Given the description of an element on the screen output the (x, y) to click on. 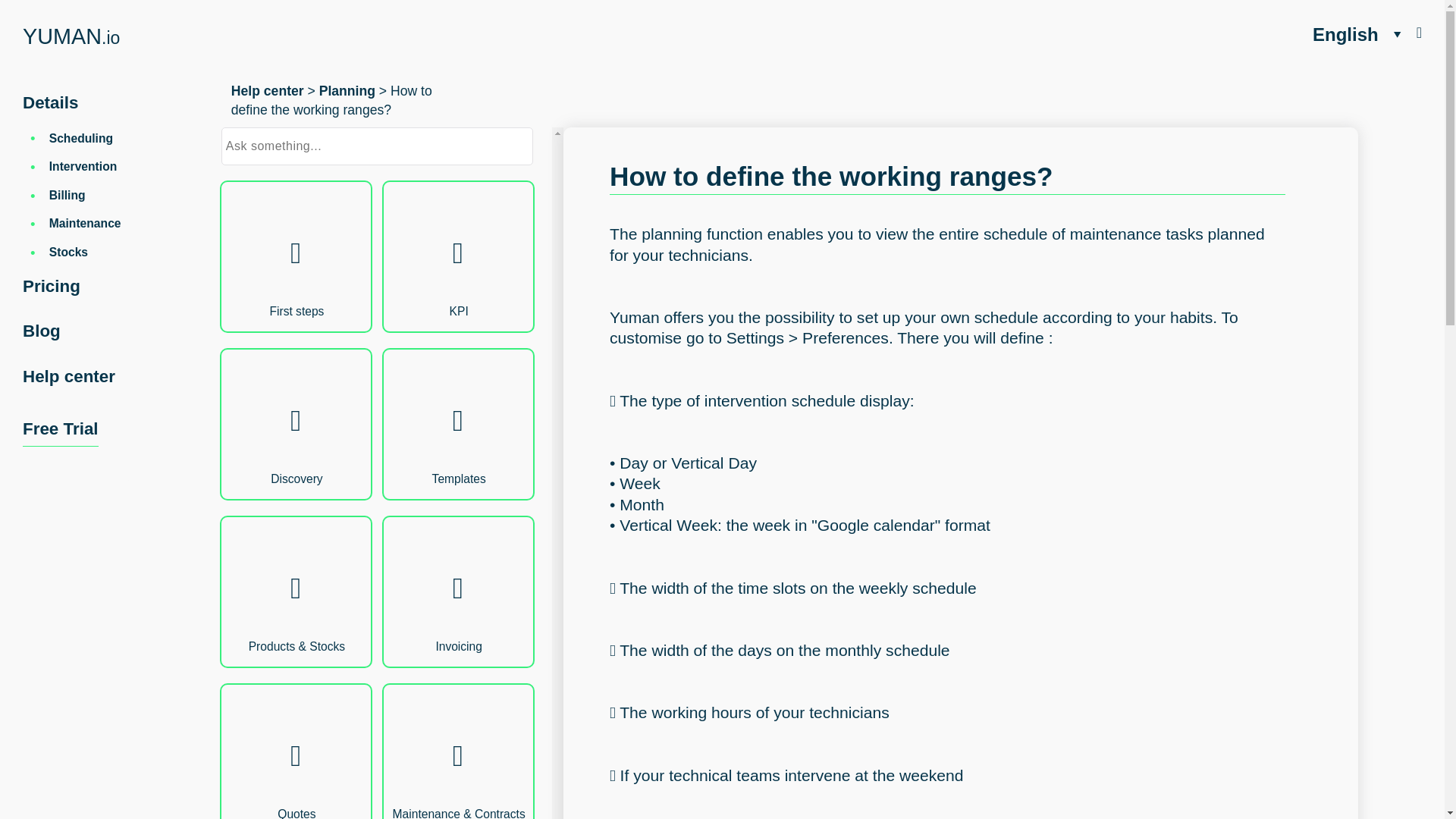
Help center (267, 90)
Billing (67, 195)
Free Trial (61, 432)
Pricing (51, 285)
KPI (458, 256)
Planning (346, 90)
Blog (42, 330)
Details (50, 102)
Maintenance (84, 223)
Templates (458, 423)
Help center (69, 375)
Discovery (296, 423)
Scheduling (81, 137)
Stocks (68, 251)
Intervention (83, 165)
